Given the description of an element on the screen output the (x, y) to click on. 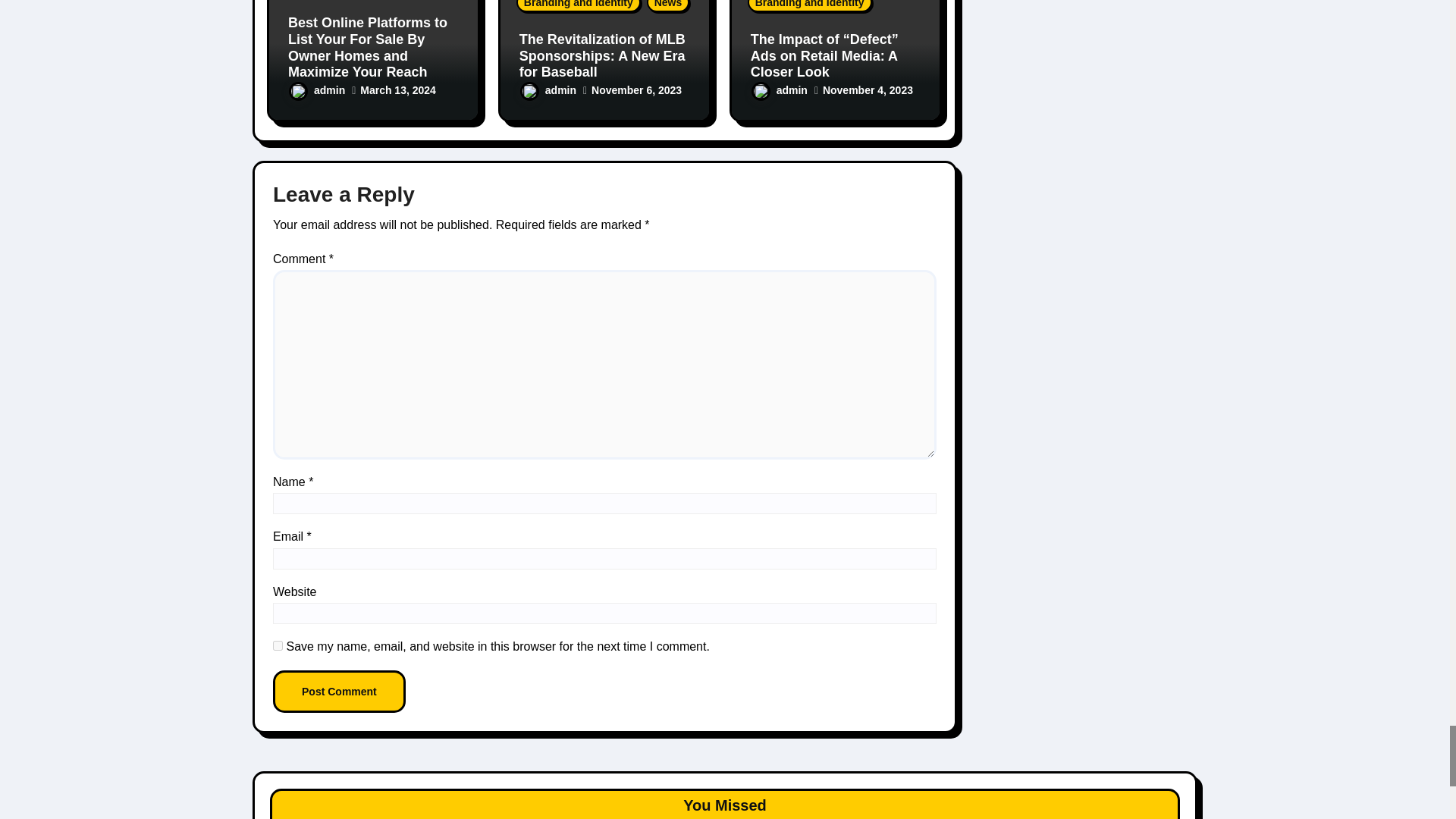
Post Comment (339, 691)
yes (277, 645)
